Given the description of an element on the screen output the (x, y) to click on. 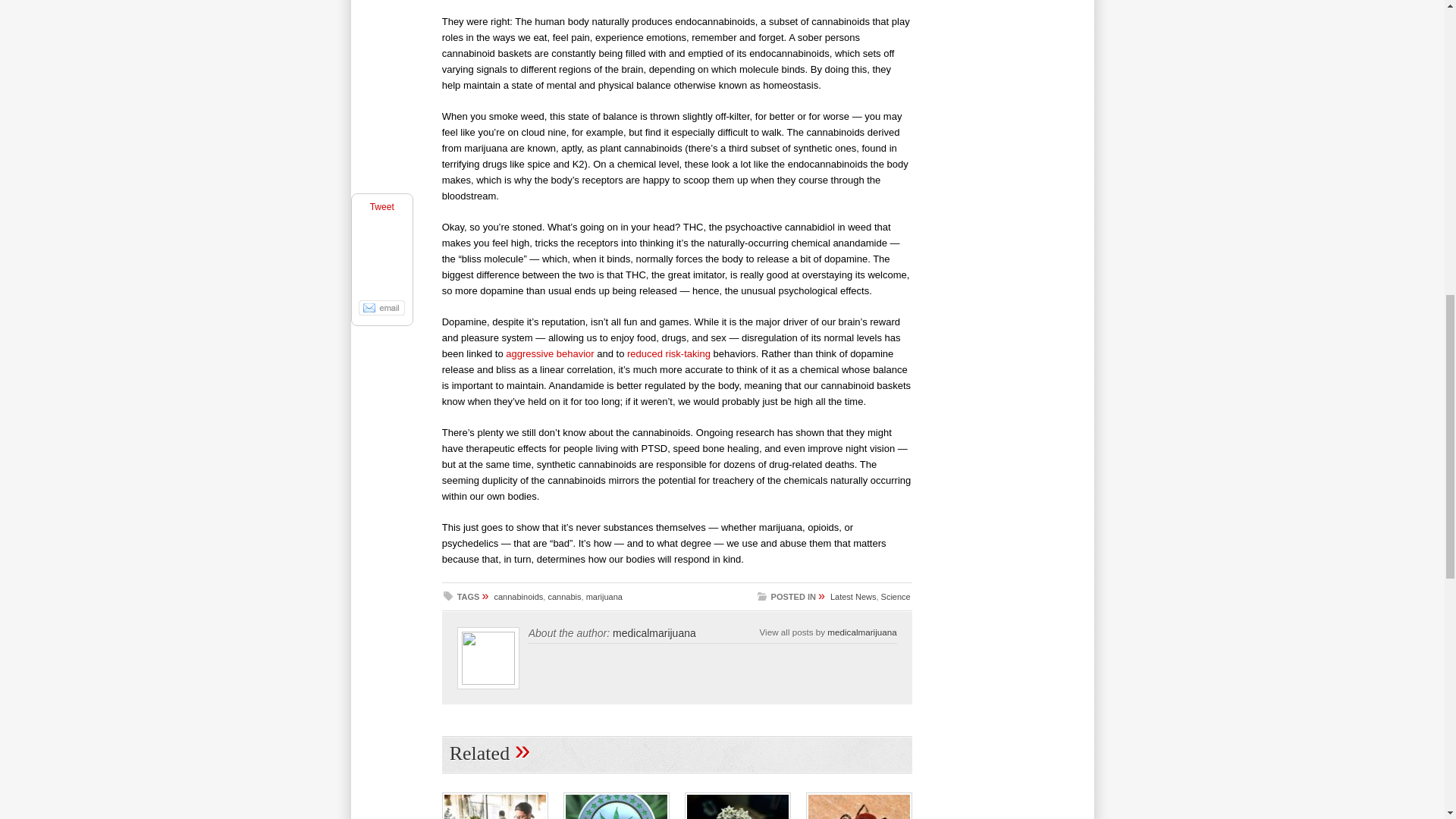
Science (895, 596)
Posts by medicalmarijuana (861, 632)
marijuana (604, 596)
reduced risk-taking (668, 353)
medicalmarijuana (861, 632)
aggressive behavior (549, 353)
Latest News (852, 596)
cannabis (563, 596)
cannabinoids (519, 596)
